Given the description of an element on the screen output the (x, y) to click on. 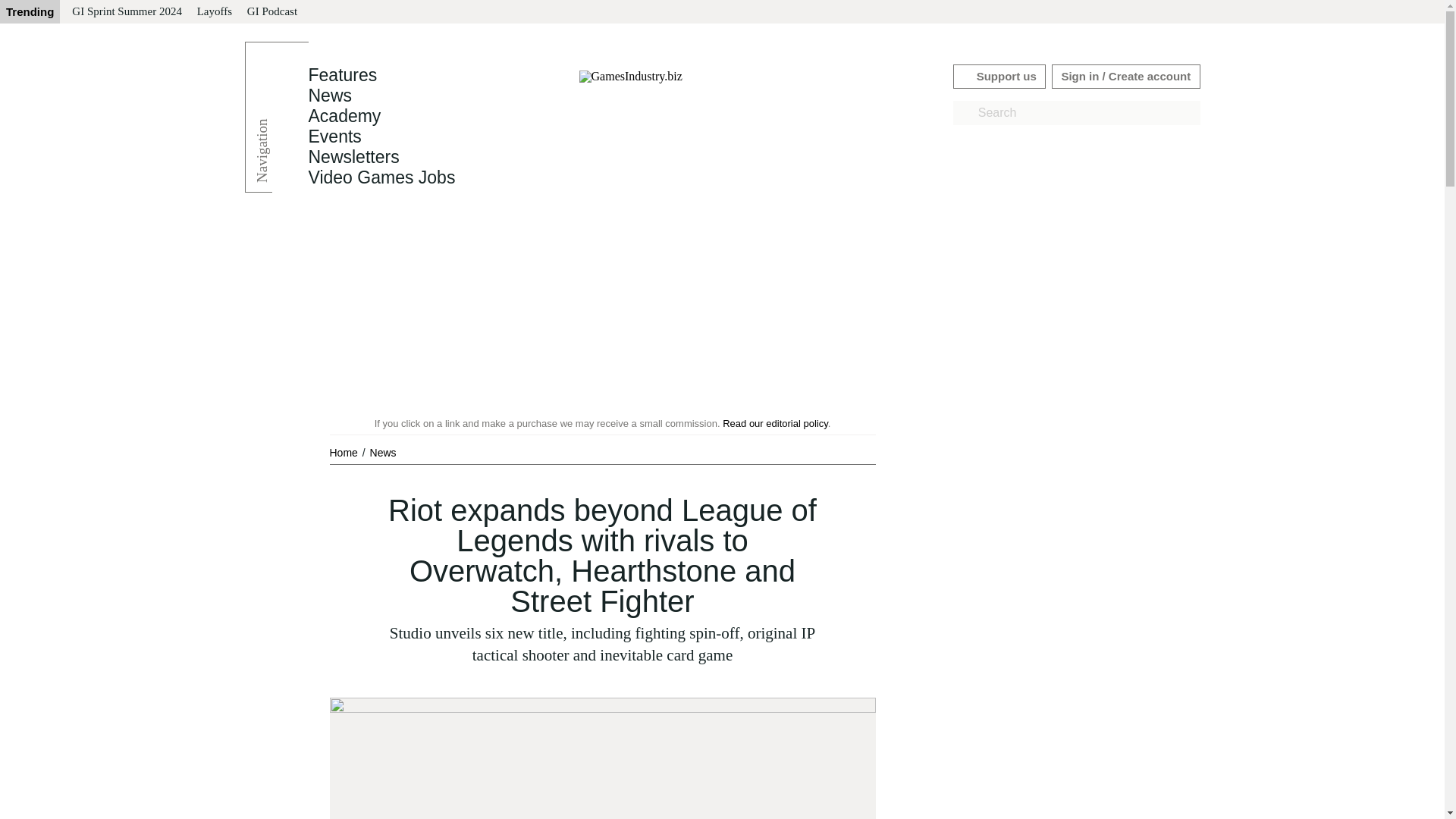
GI Sprint Summer 2024 (126, 11)
Features (342, 75)
Events (334, 136)
Newsletters (352, 157)
GI Sprint Summer 2024 (126, 11)
Video Games Jobs (380, 177)
News (382, 452)
Newsletters (352, 157)
GI Podcast (271, 11)
Academy (343, 116)
News (329, 95)
Support us (999, 75)
Video Games Jobs (380, 177)
Features (342, 75)
Layoffs (214, 11)
